Given the description of an element on the screen output the (x, y) to click on. 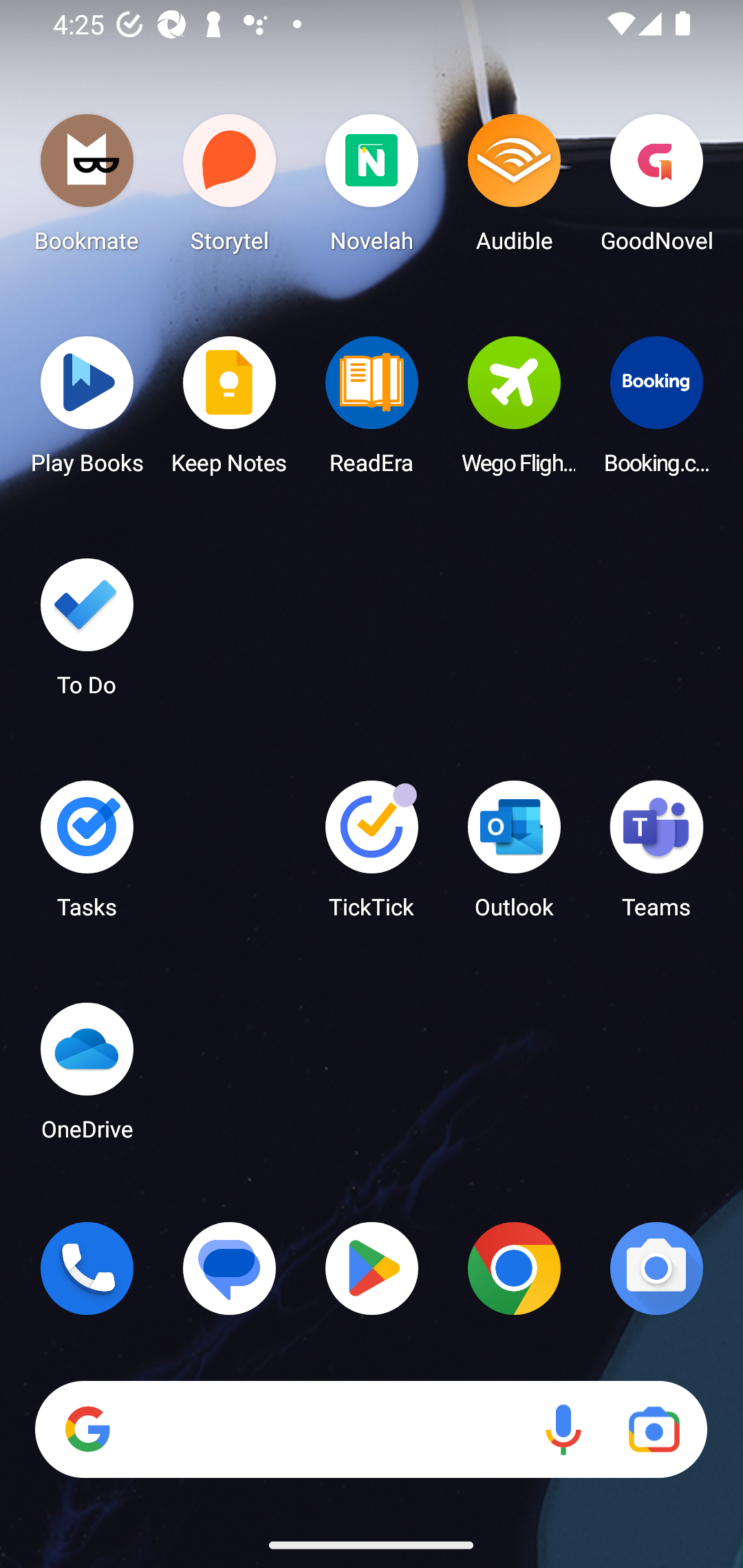
Bookmate (86, 188)
Storytel (229, 188)
Novelah (371, 188)
Audible (513, 188)
GoodNovel (656, 188)
Play Books (86, 410)
Keep Notes (229, 410)
ReadEra (371, 410)
Wego Flights & Hotels (513, 410)
Booking.com (656, 410)
To Do (86, 633)
Tasks (86, 854)
TickTick TickTick has 3 notifications (371, 854)
Outlook (513, 854)
Teams (656, 854)
OneDrive (86, 1076)
Phone (86, 1268)
Messages (229, 1268)
Play Store (371, 1268)
Chrome (513, 1268)
Camera (656, 1268)
Voice search (562, 1429)
Google Lens (653, 1429)
